Given the description of an element on the screen output the (x, y) to click on. 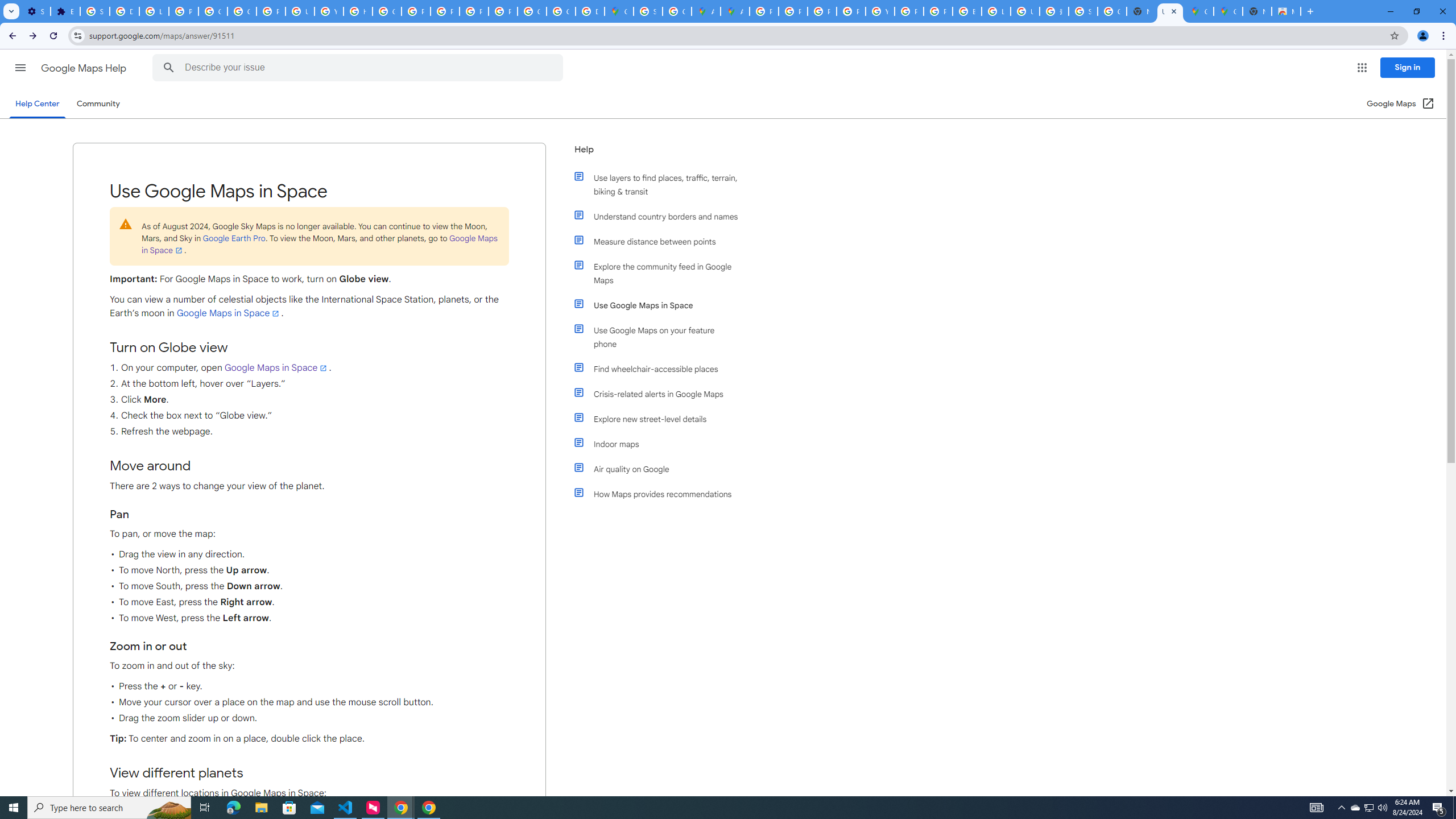
Sign in - Google Accounts (1082, 11)
Policy Accountability and Transparency - Transparency Center (763, 11)
Main menu (20, 67)
Google Maps Help (84, 68)
